Given the description of an element on the screen output the (x, y) to click on. 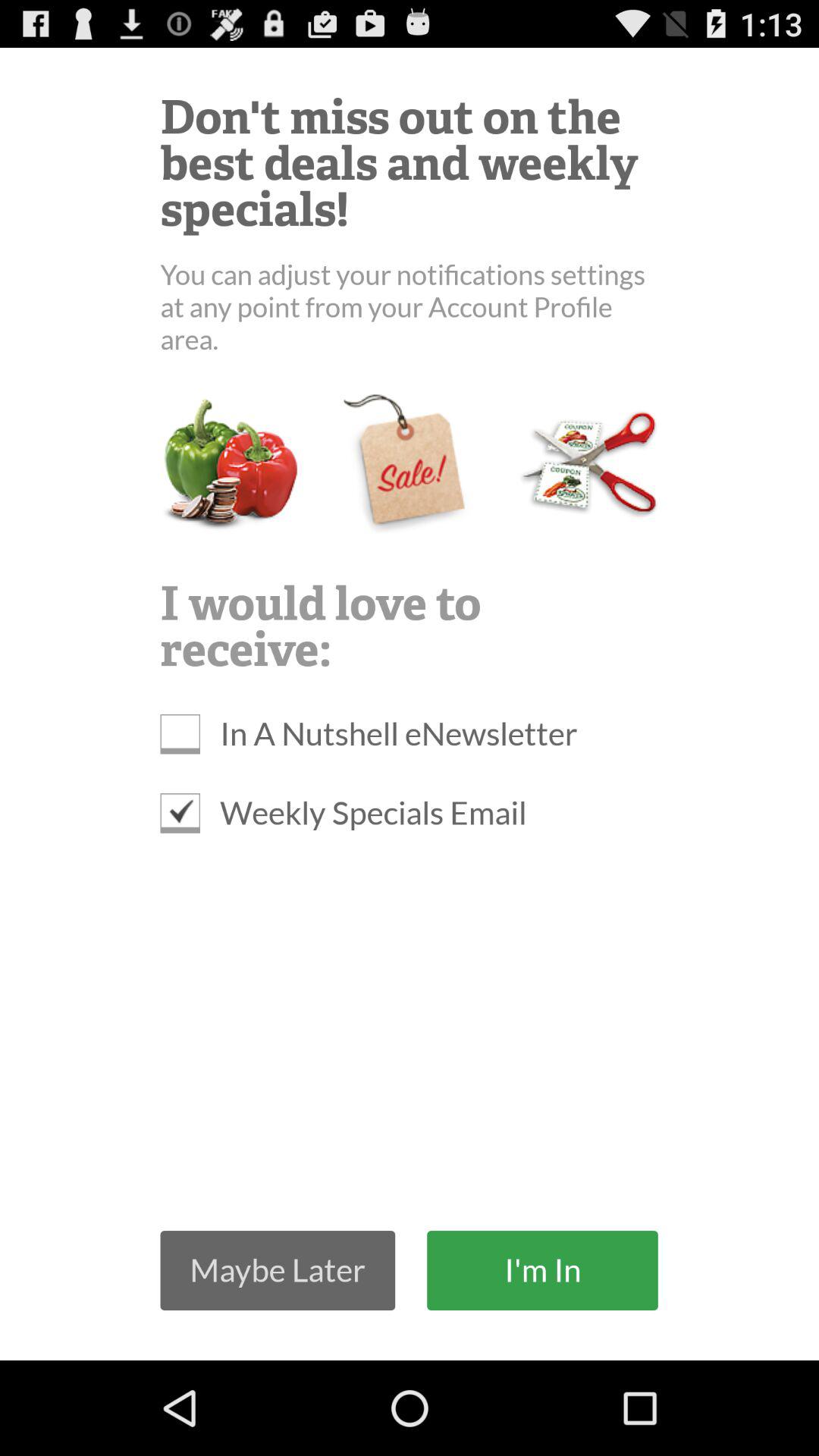
swipe to the i'm in item (542, 1270)
